Given the description of an element on the screen output the (x, y) to click on. 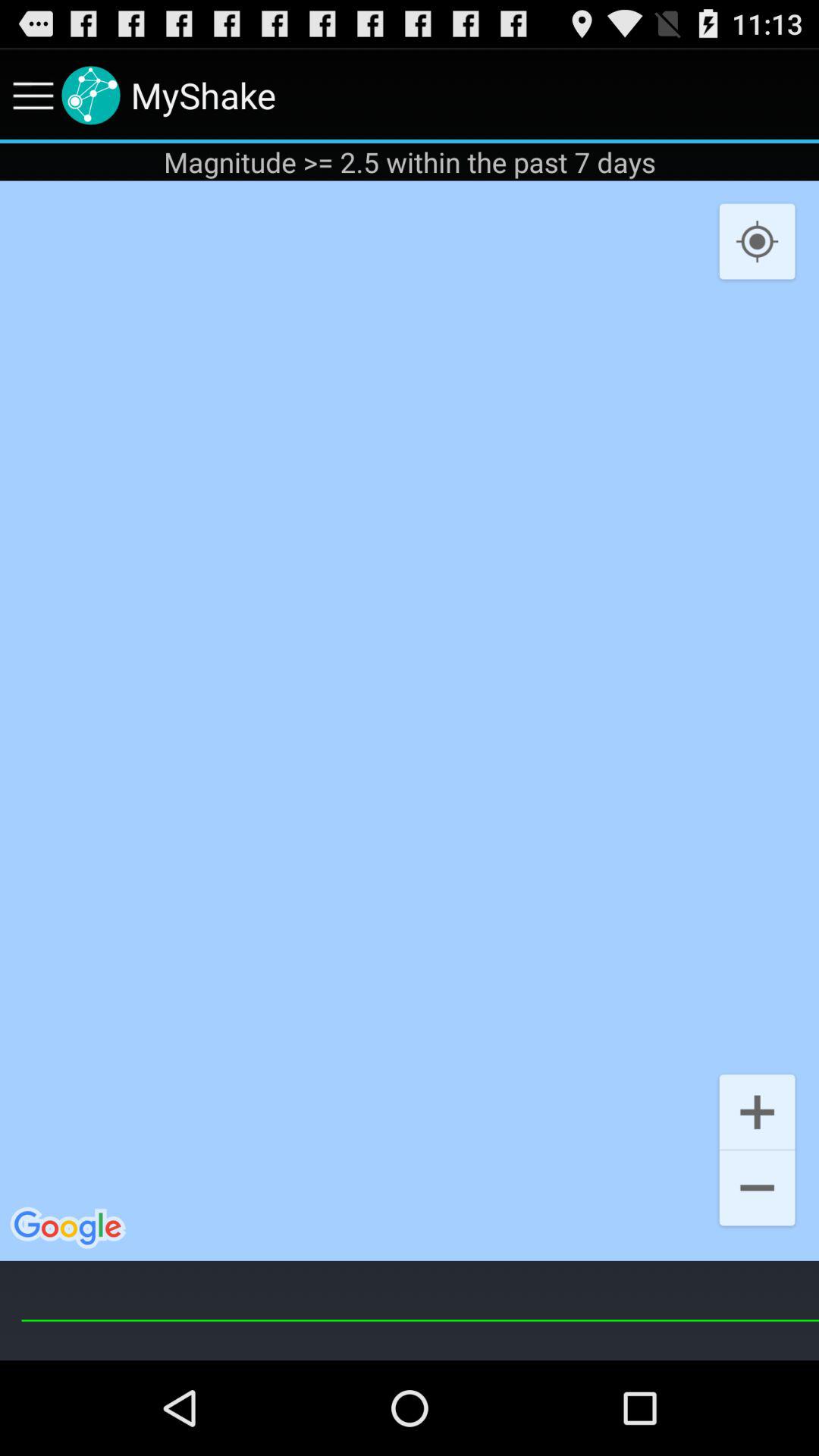
tap the app below the magnitude 2 5 (409, 720)
